Given the description of an element on the screen output the (x, y) to click on. 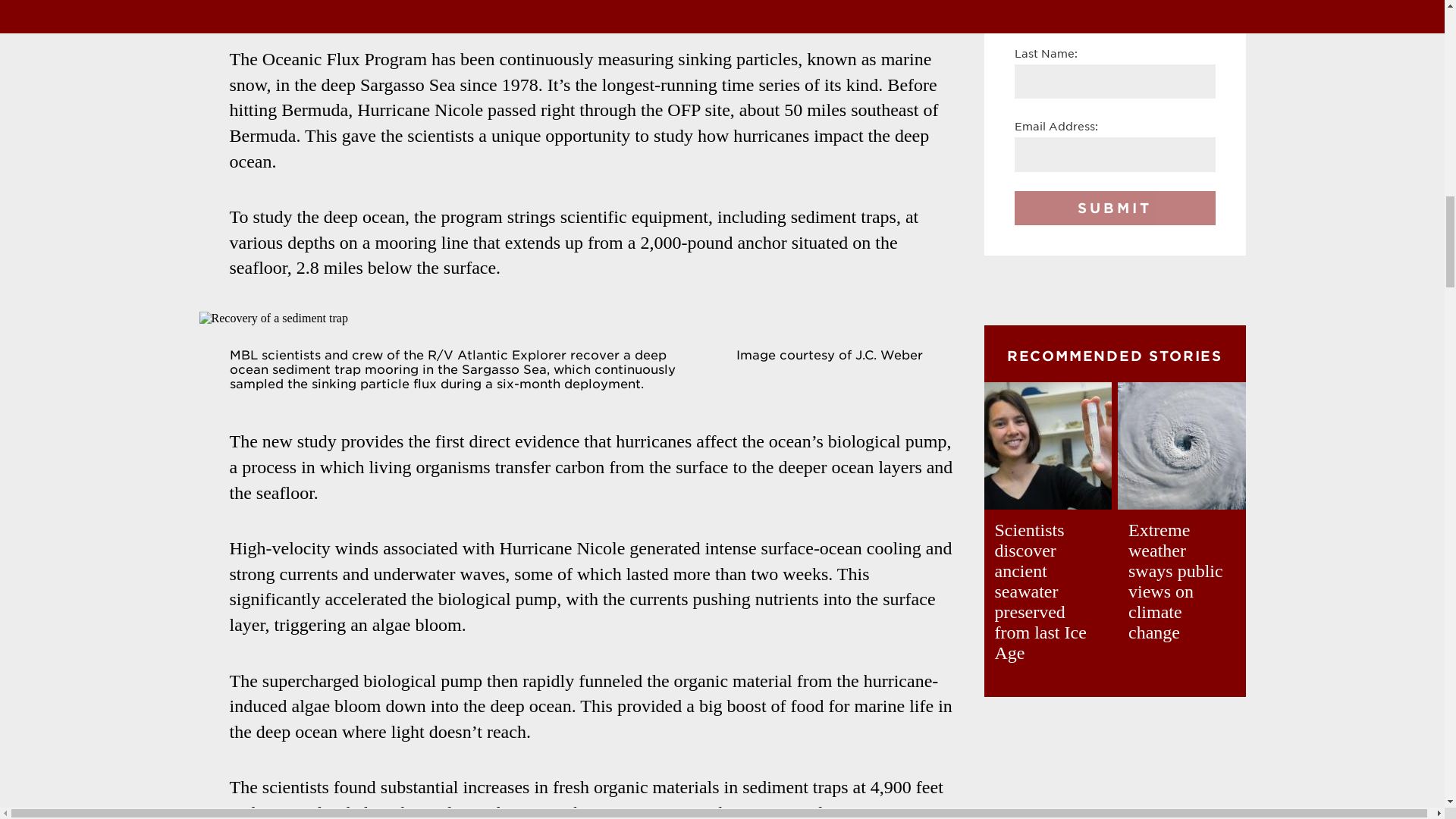
SUBMIT (1114, 207)
